Given the description of an element on the screen output the (x, y) to click on. 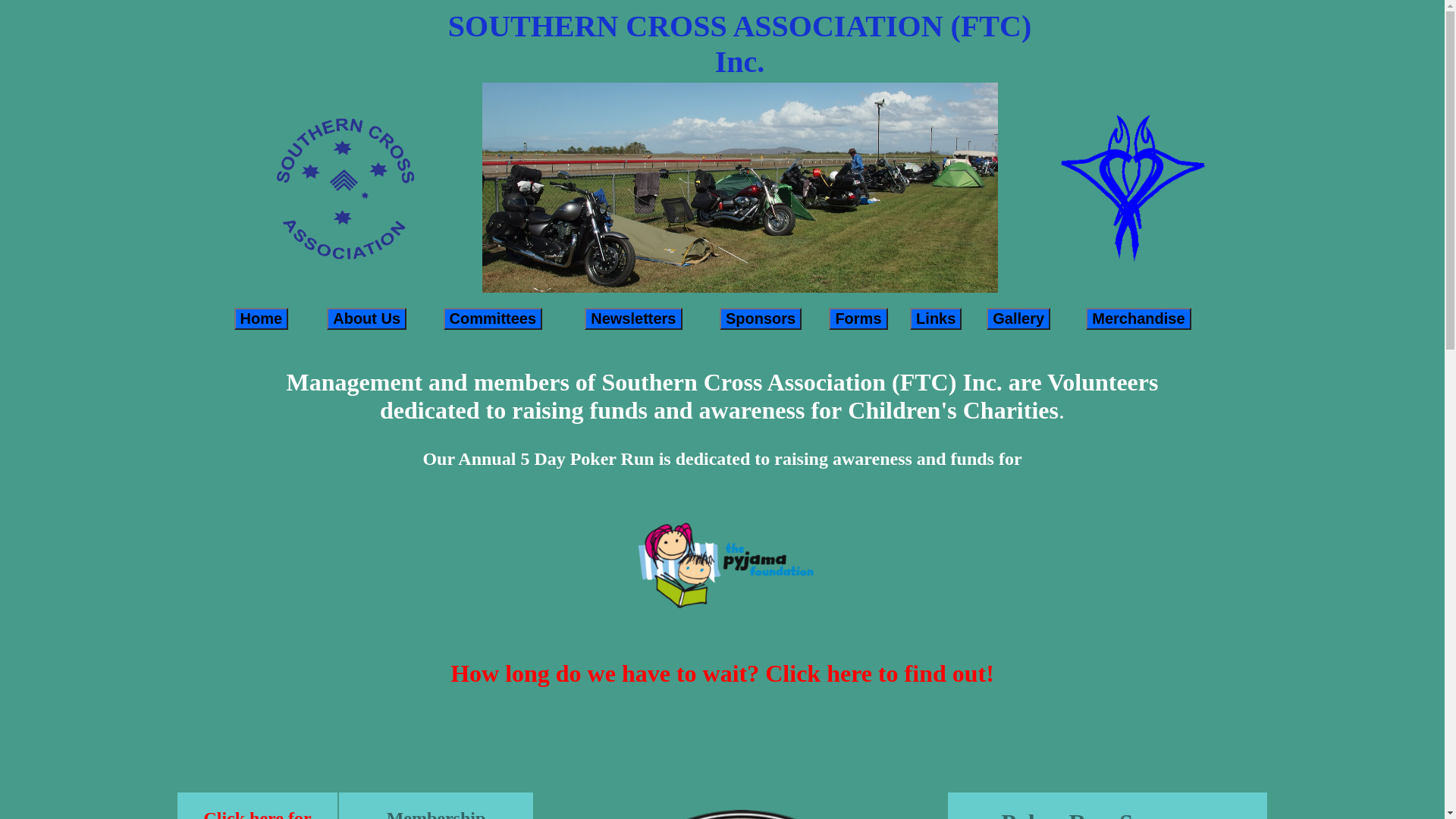
Links Element type: text (935, 318)
Home Element type: text (260, 318)
Merchandise Element type: text (1137, 318)
Newsletters Element type: text (632, 318)
Sponsors Element type: text (760, 318)
About Us Element type: text (366, 318)
How long do we have to wait? Click here to find out! Element type: text (722, 673)
Gallery Element type: text (1018, 318)
Forms Element type: text (857, 318)
Committees Element type: text (492, 318)
